Given the description of an element on the screen output the (x, y) to click on. 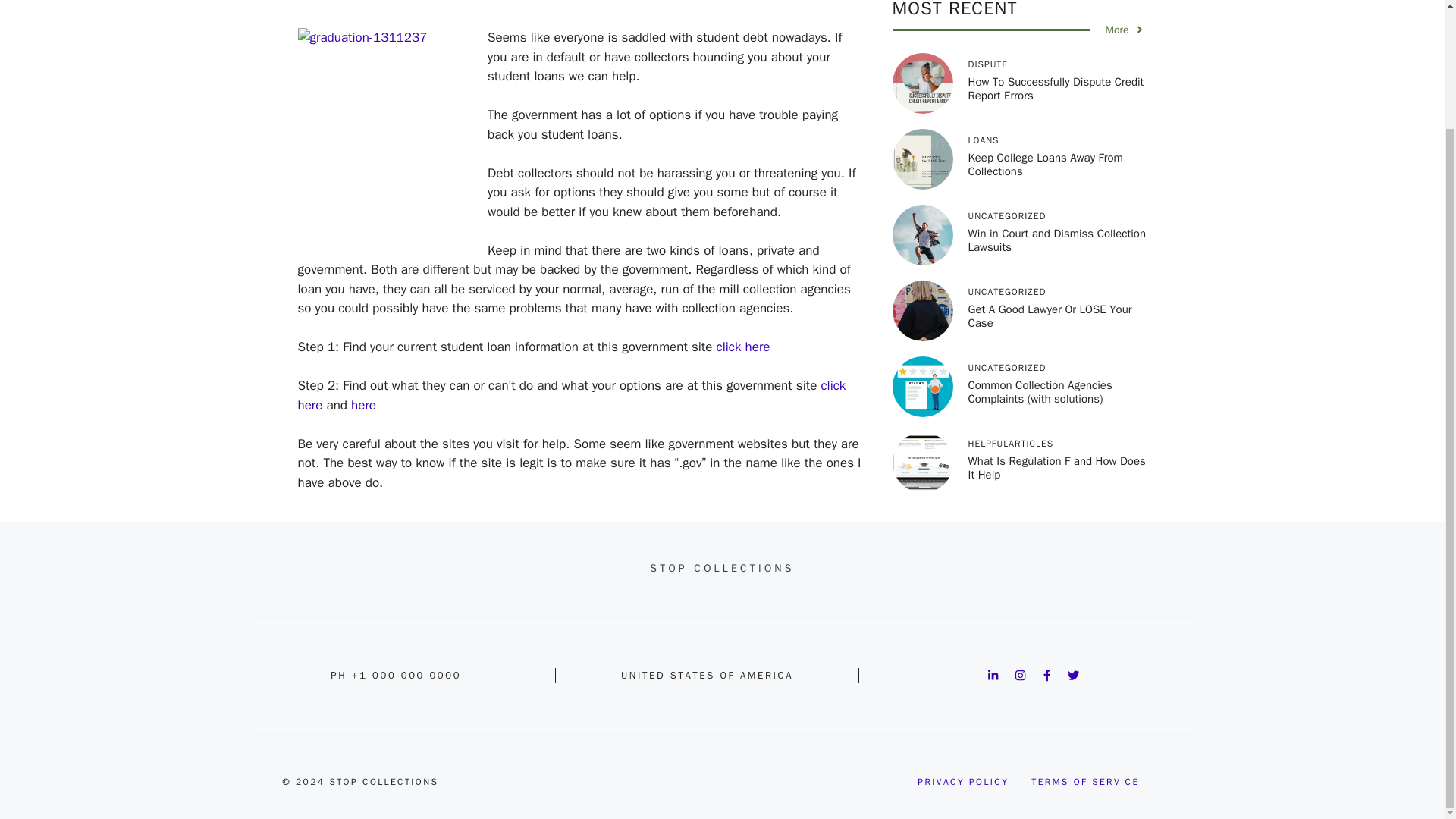
click here (743, 346)
How To Successfully Dispute Credit Report Errors (1055, 56)
here (362, 405)
Keep College Loans Away From Collections (1045, 132)
Win in Court and Dismiss Collection Lawsuits (1056, 207)
What Is Regulation F and How Does It Help (1056, 435)
click here (571, 395)
Get A Good Lawyer Or LOSE Your Case (1049, 284)
More (1124, 2)
